Given the description of an element on the screen output the (x, y) to click on. 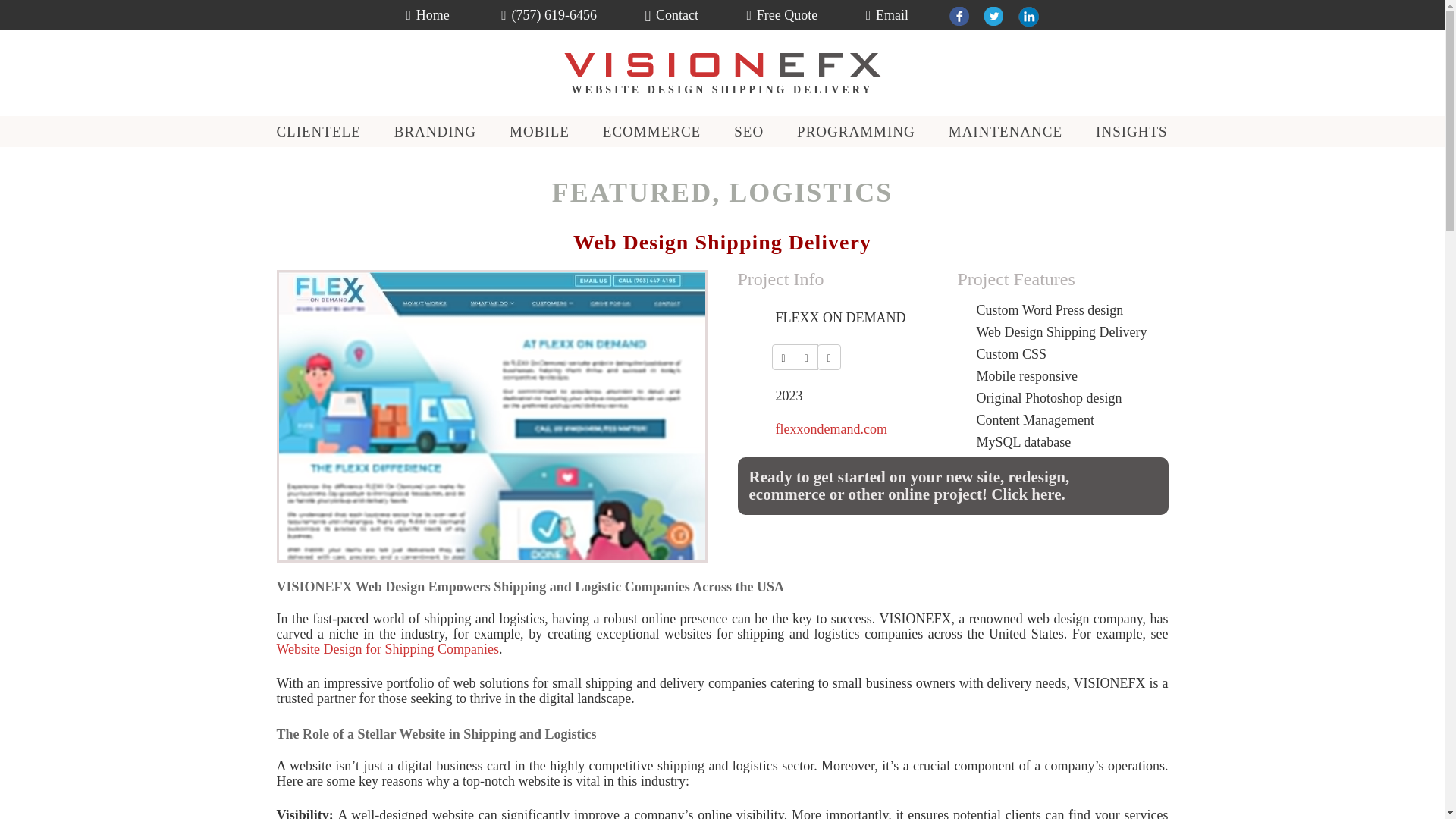
ECOMMERCE (651, 131)
Contact (671, 14)
INSIGHTS (1132, 131)
MAINTENANCE (1005, 131)
SEO (748, 131)
Free Quote (782, 14)
flexxondemand.com (830, 428)
Website Design for Shipping Companies (387, 648)
BRANDING (435, 131)
